Given the description of an element on the screen output the (x, y) to click on. 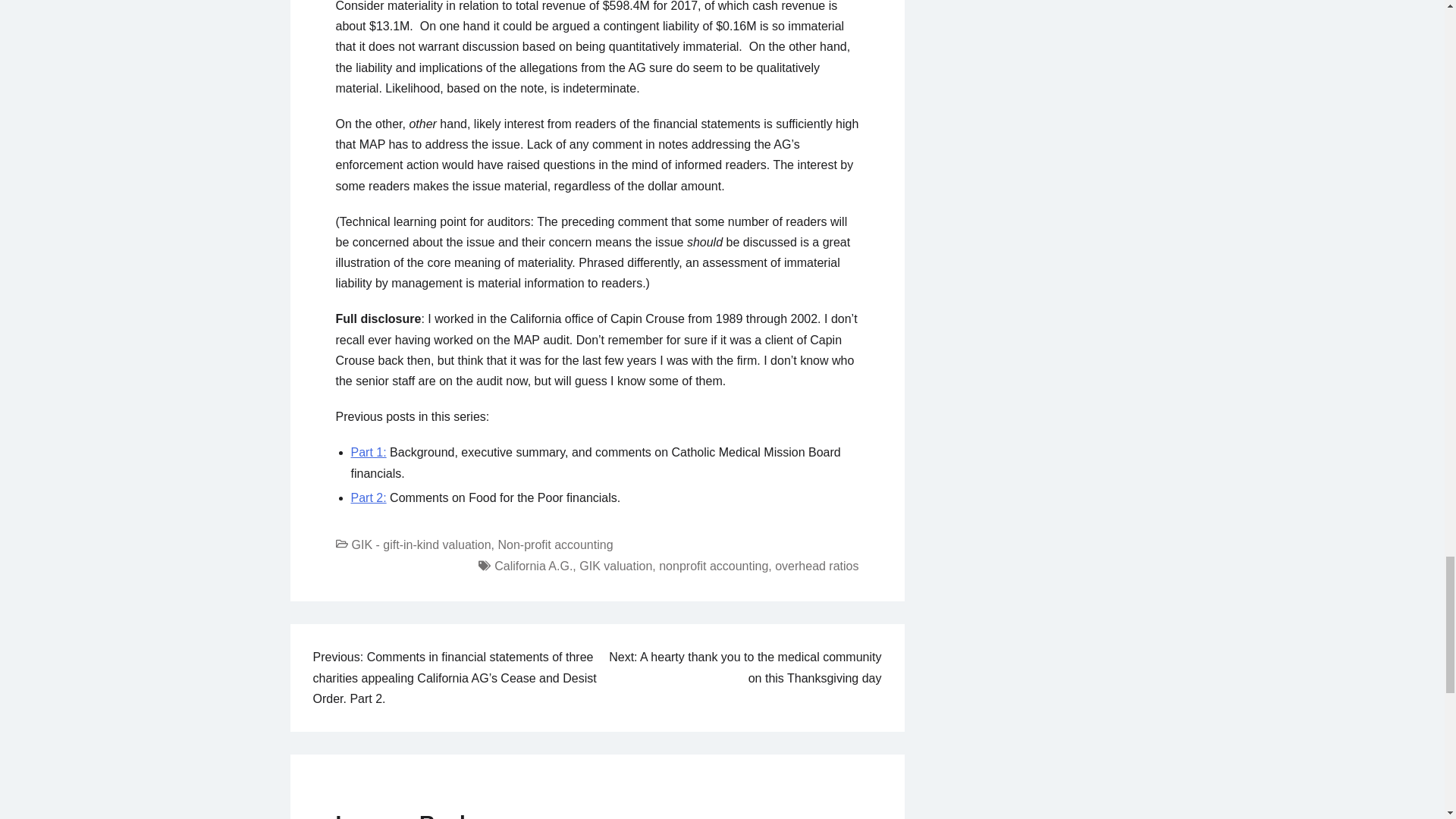
Non-profit accounting (554, 544)
GIK - gift-in-kind valuation (422, 544)
nonprofit accounting (713, 565)
Part 2: (367, 497)
California A.G. (533, 565)
GIK valuation (615, 565)
overhead ratios (816, 565)
Part 1: (367, 451)
